Given the description of an element on the screen output the (x, y) to click on. 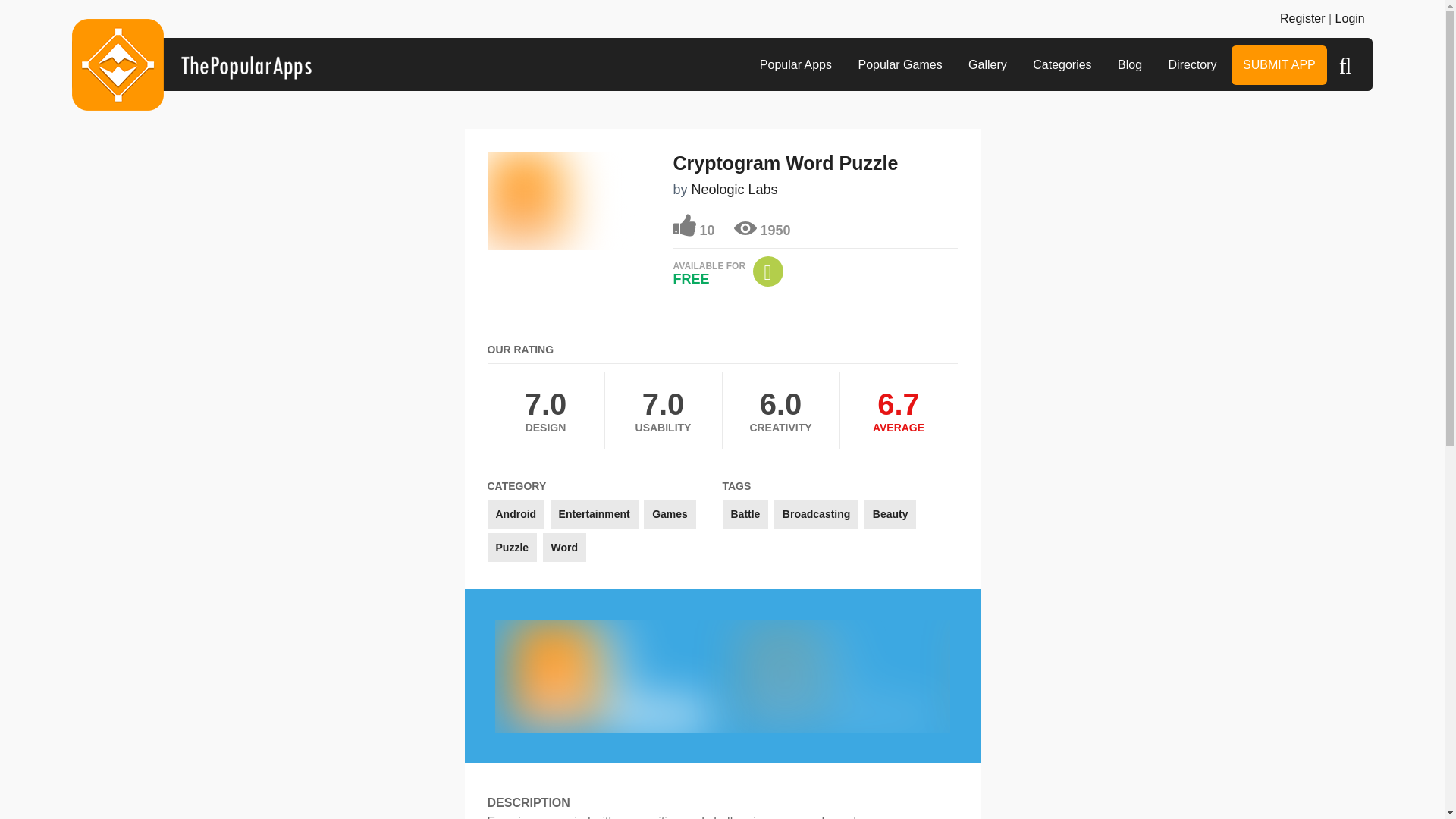
Login (1350, 18)
Battle (745, 513)
Gallery (986, 65)
Blog (1129, 65)
Popular Apps (795, 65)
Word (564, 547)
10 (693, 226)
Register (1301, 18)
Entertainment (594, 513)
Popular Games (899, 65)
